Given the description of an element on the screen output the (x, y) to click on. 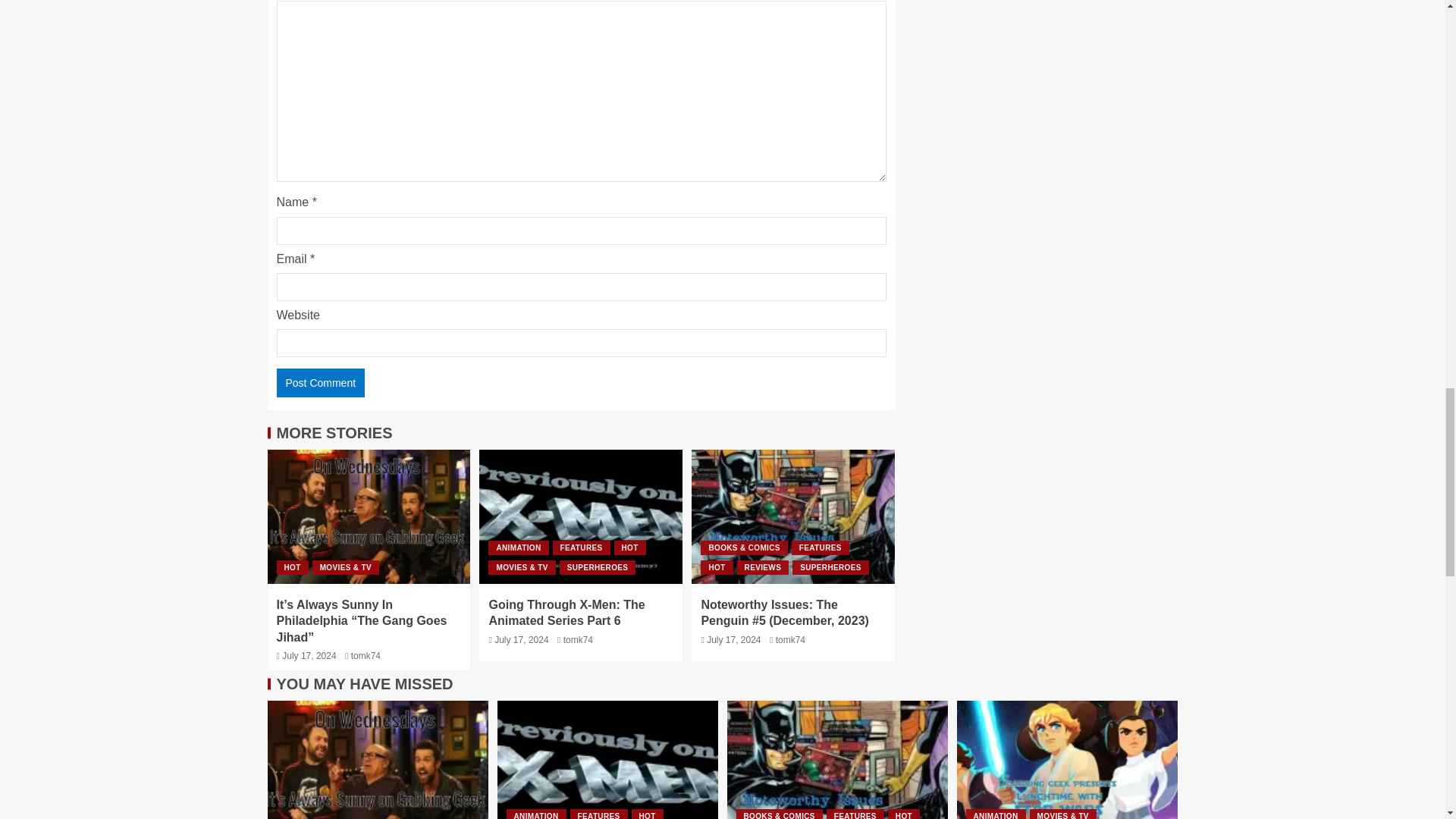
Post Comment (320, 382)
